Given the description of an element on the screen output the (x, y) to click on. 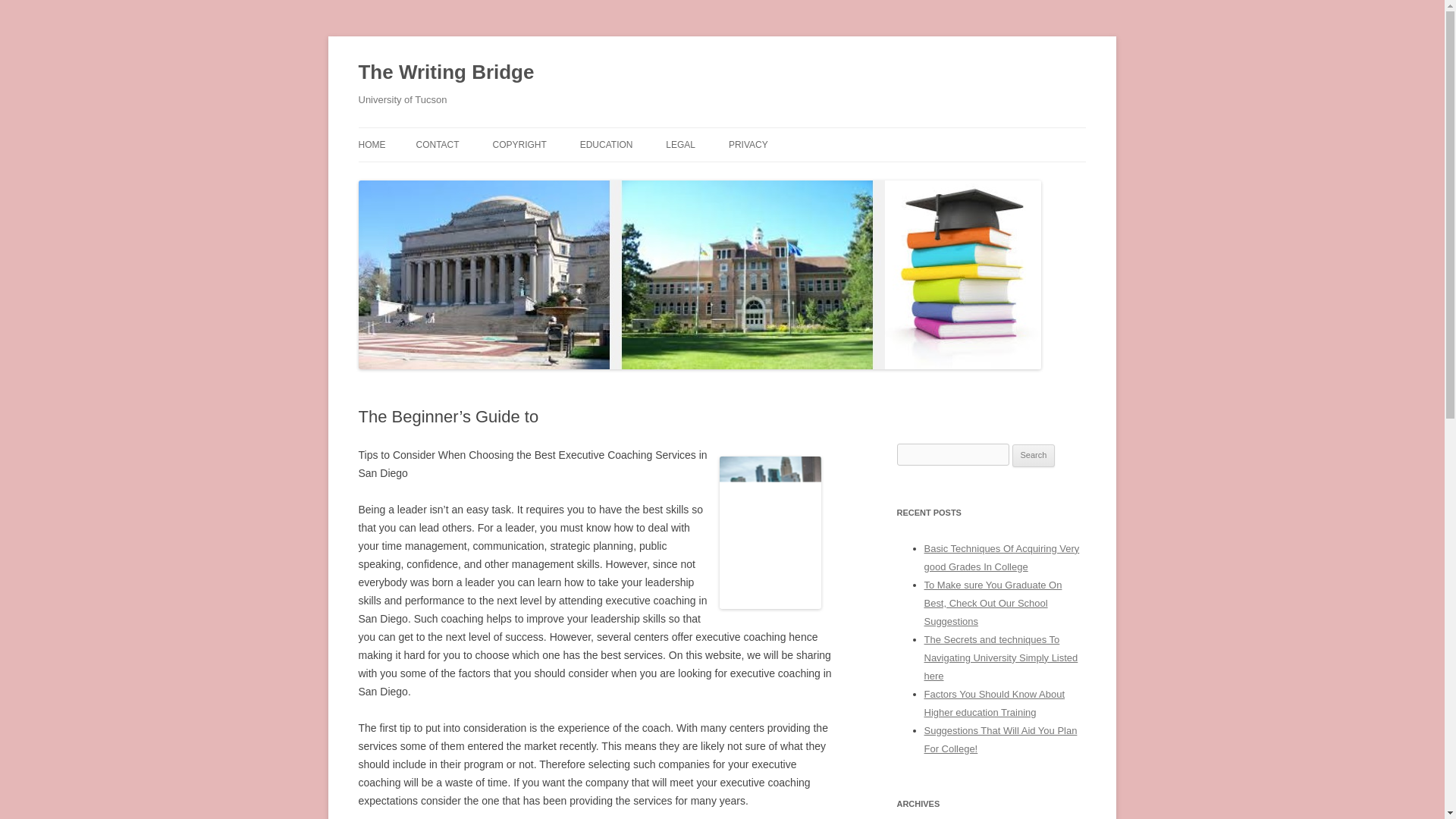
Suggestions That Will Aid You Plan For College! (1000, 739)
The Writing Bridge (446, 72)
Factors You Should Know About Higher education Training (993, 703)
EDUCATION (606, 144)
COPYRIGHT (519, 144)
The Writing Bridge (446, 72)
CONTACT (436, 144)
